Given the description of an element on the screen output the (x, y) to click on. 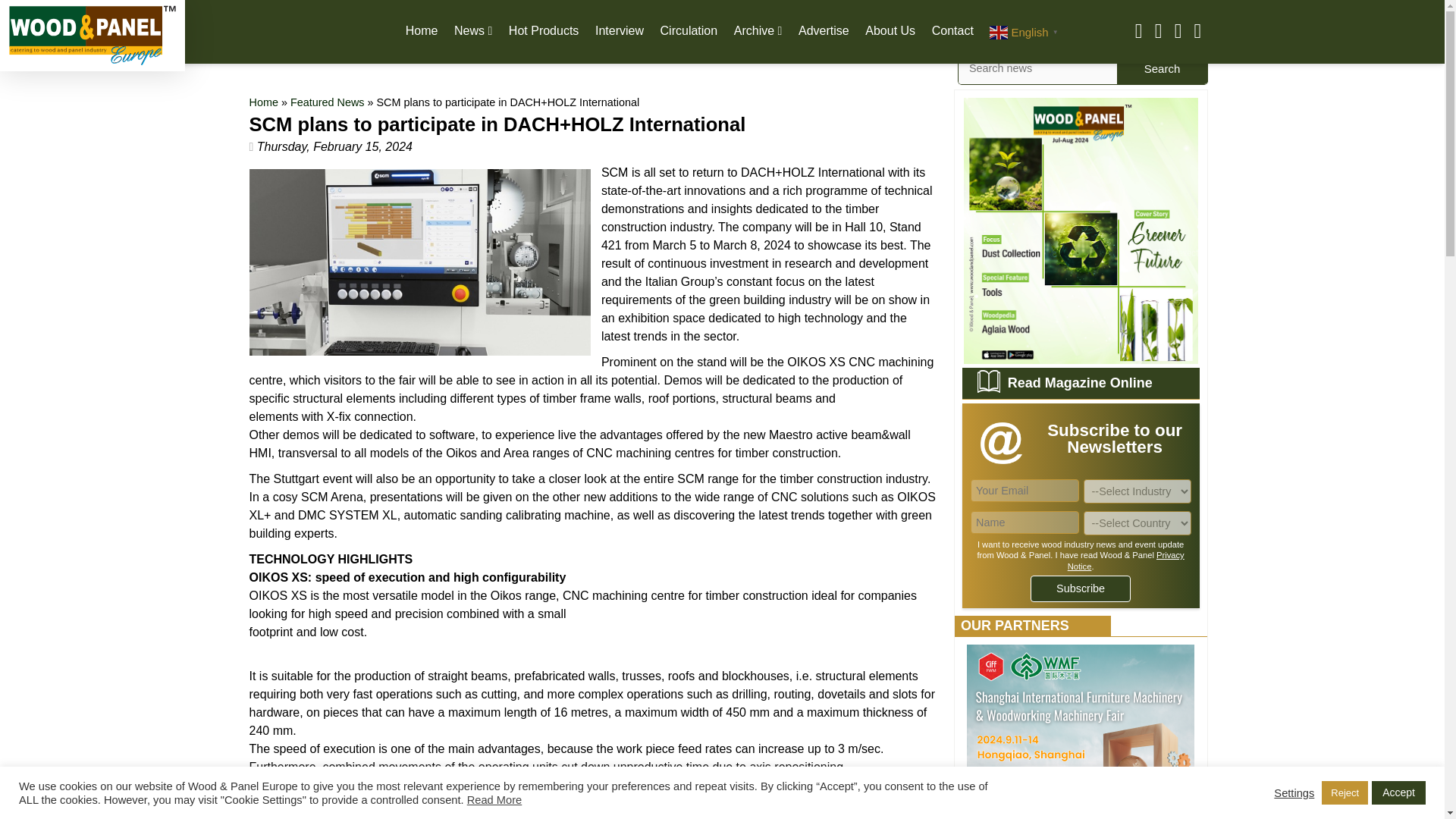
Interview (619, 30)
Home (422, 30)
Subscribe (1080, 588)
Archive (758, 30)
About Us (889, 30)
Advertise (822, 30)
Search (1161, 68)
Circulation (689, 30)
News (473, 30)
Hot Products (543, 30)
